Given the description of an element on the screen output the (x, y) to click on. 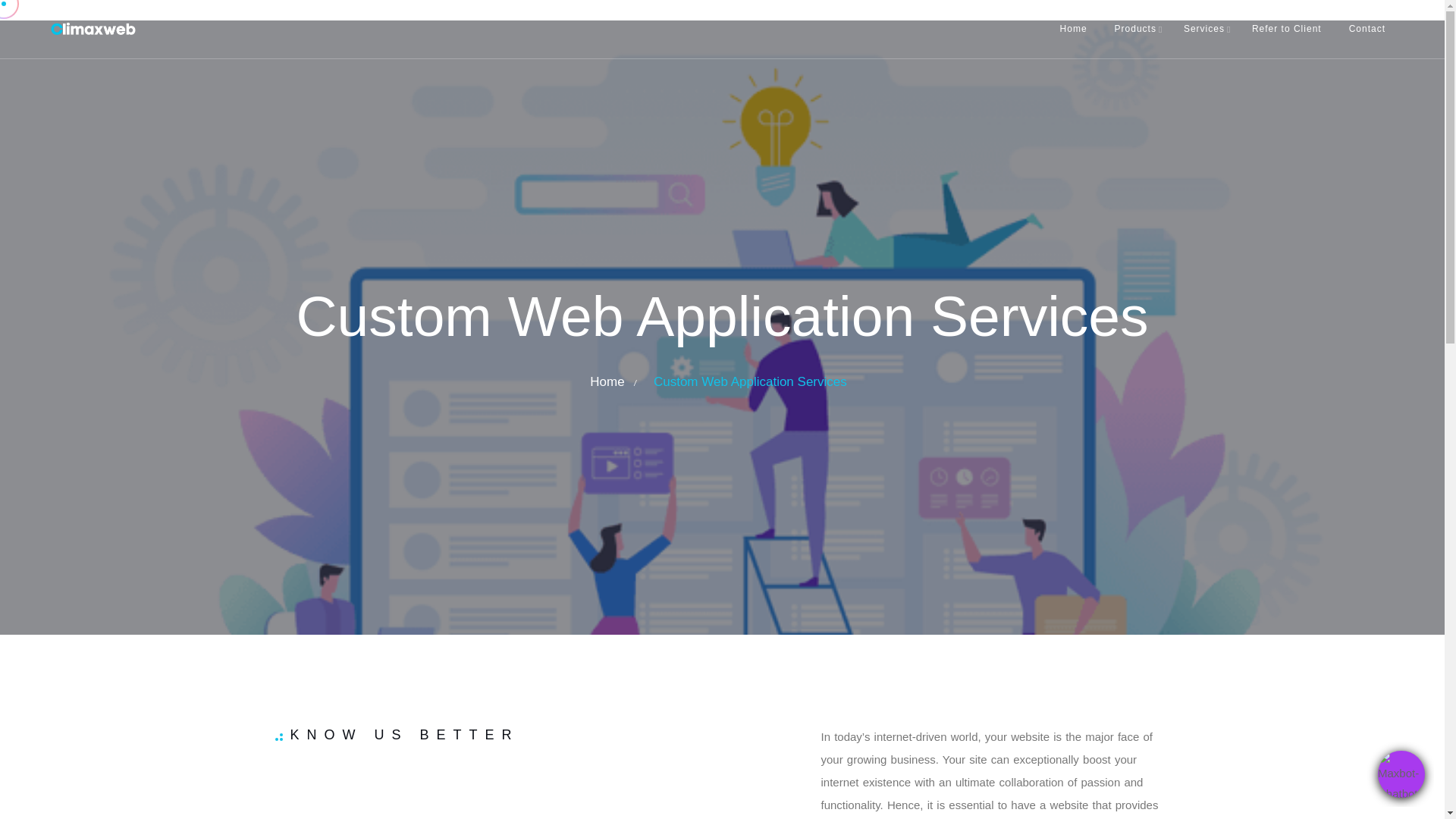
Products (1135, 29)
Home (1073, 29)
Contact (1367, 29)
Refer to Client (1287, 29)
Home (606, 381)
Services (1204, 29)
